Given the description of an element on the screen output the (x, y) to click on. 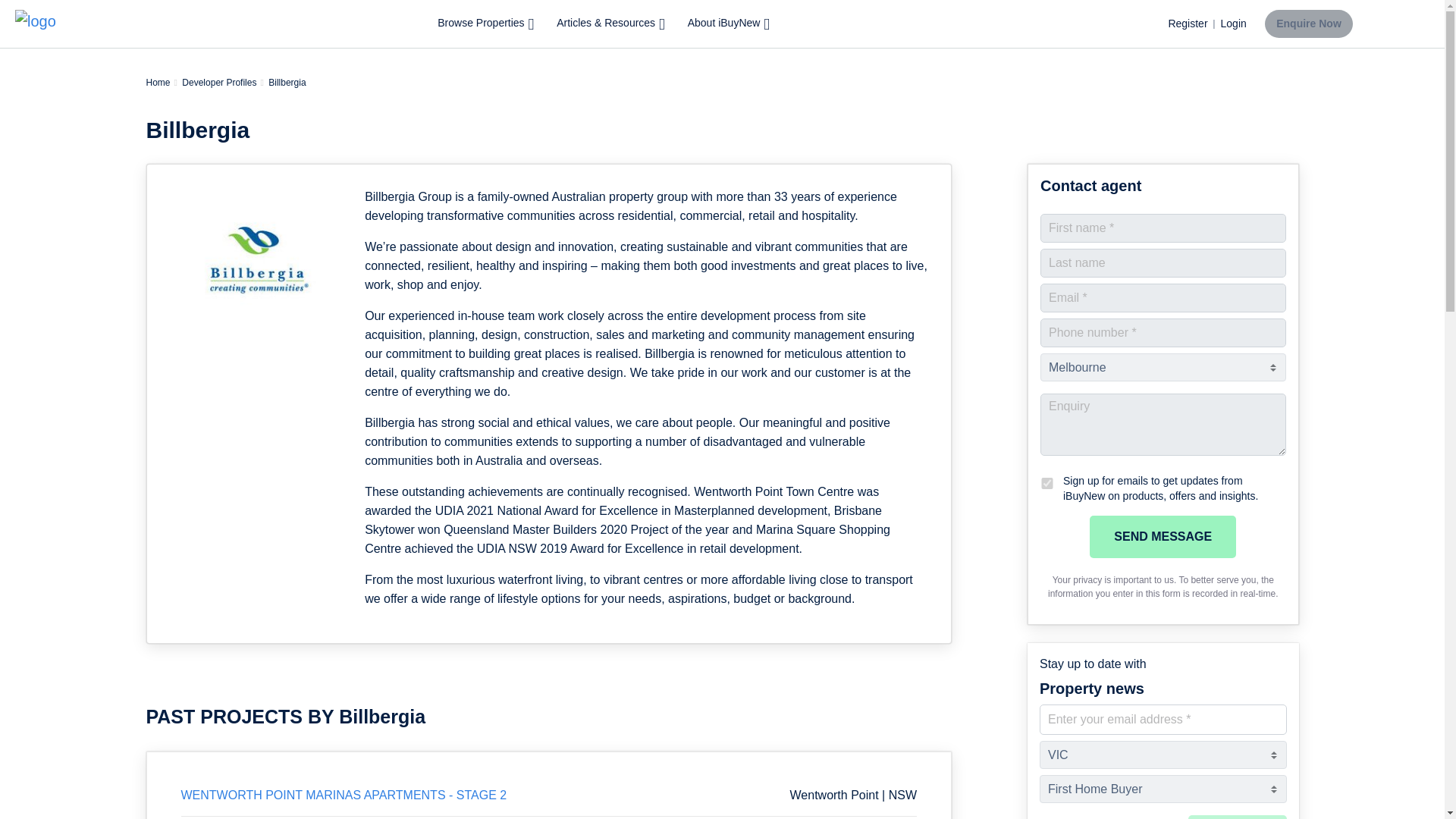
1 (1047, 482)
Register (1187, 23)
Enquire Now (1308, 23)
Browse Properties (486, 23)
Enter a valid phone number (1163, 332)
Login (1233, 23)
